Given the description of an element on the screen output the (x, y) to click on. 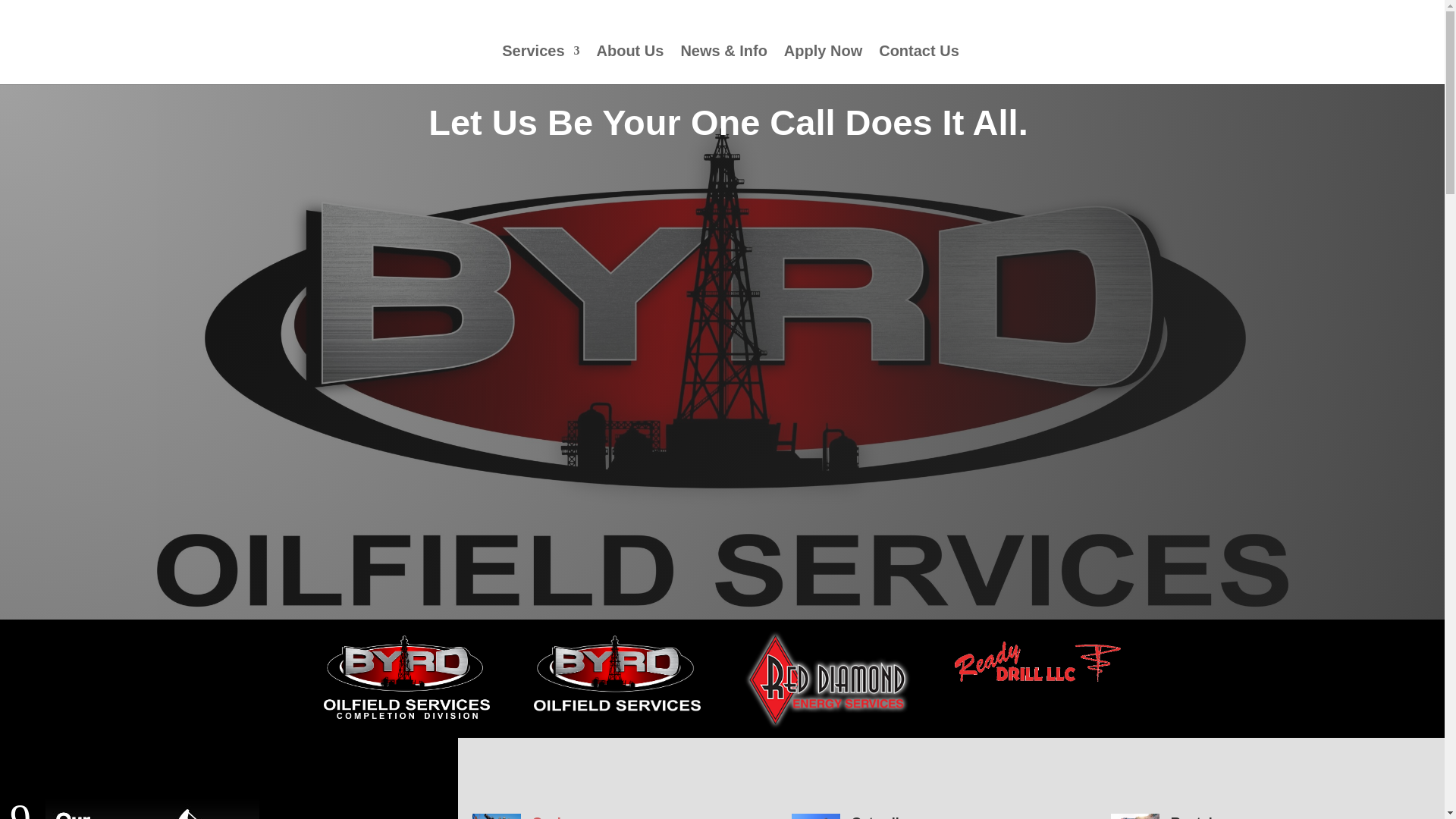
Contact Us (919, 64)
About Us (629, 64)
Services (540, 64)
Apply Now (822, 64)
Casing (555, 816)
